Given the description of an element on the screen output the (x, y) to click on. 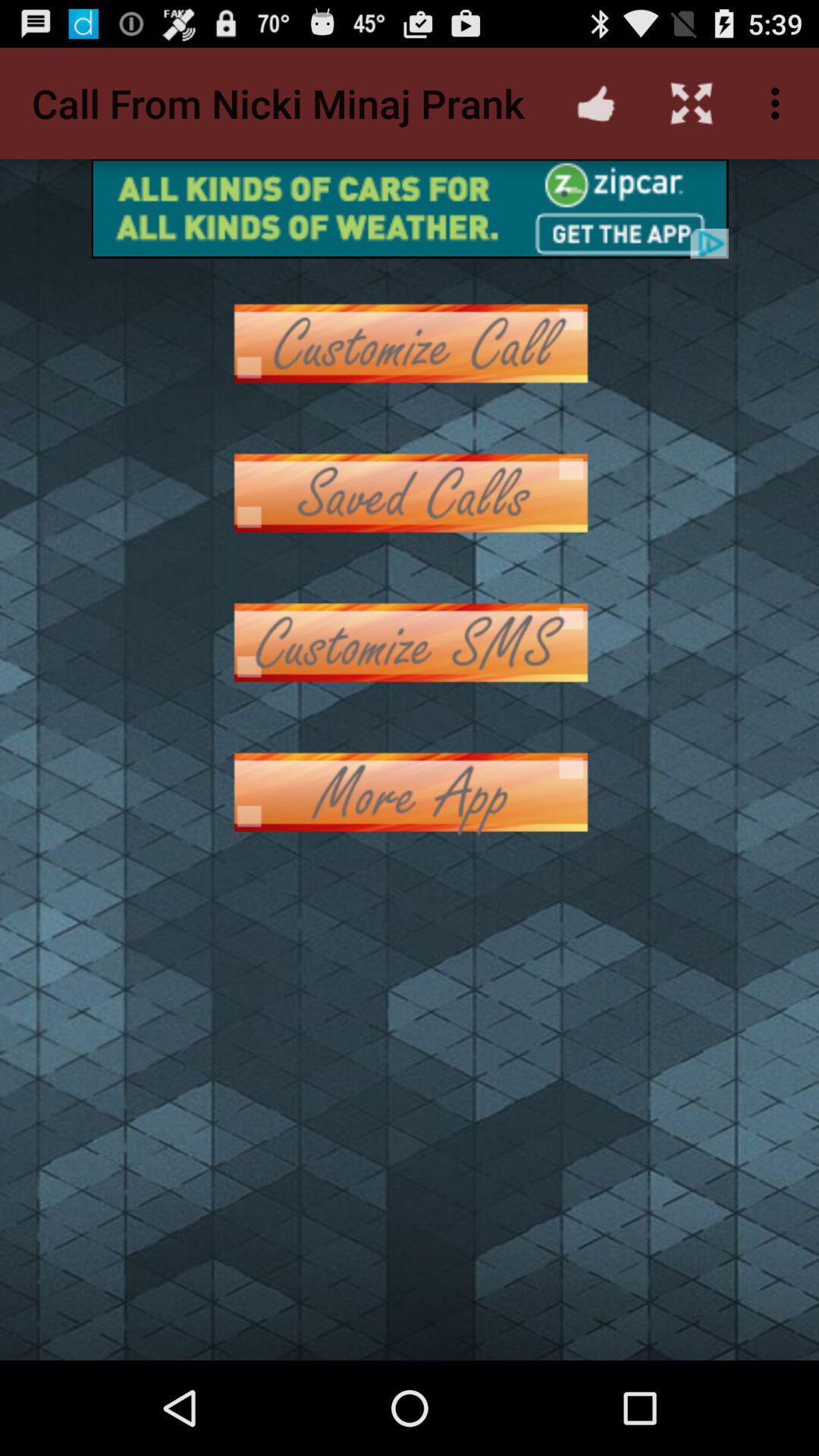
options button (409, 492)
